Given the description of an element on the screen output the (x, y) to click on. 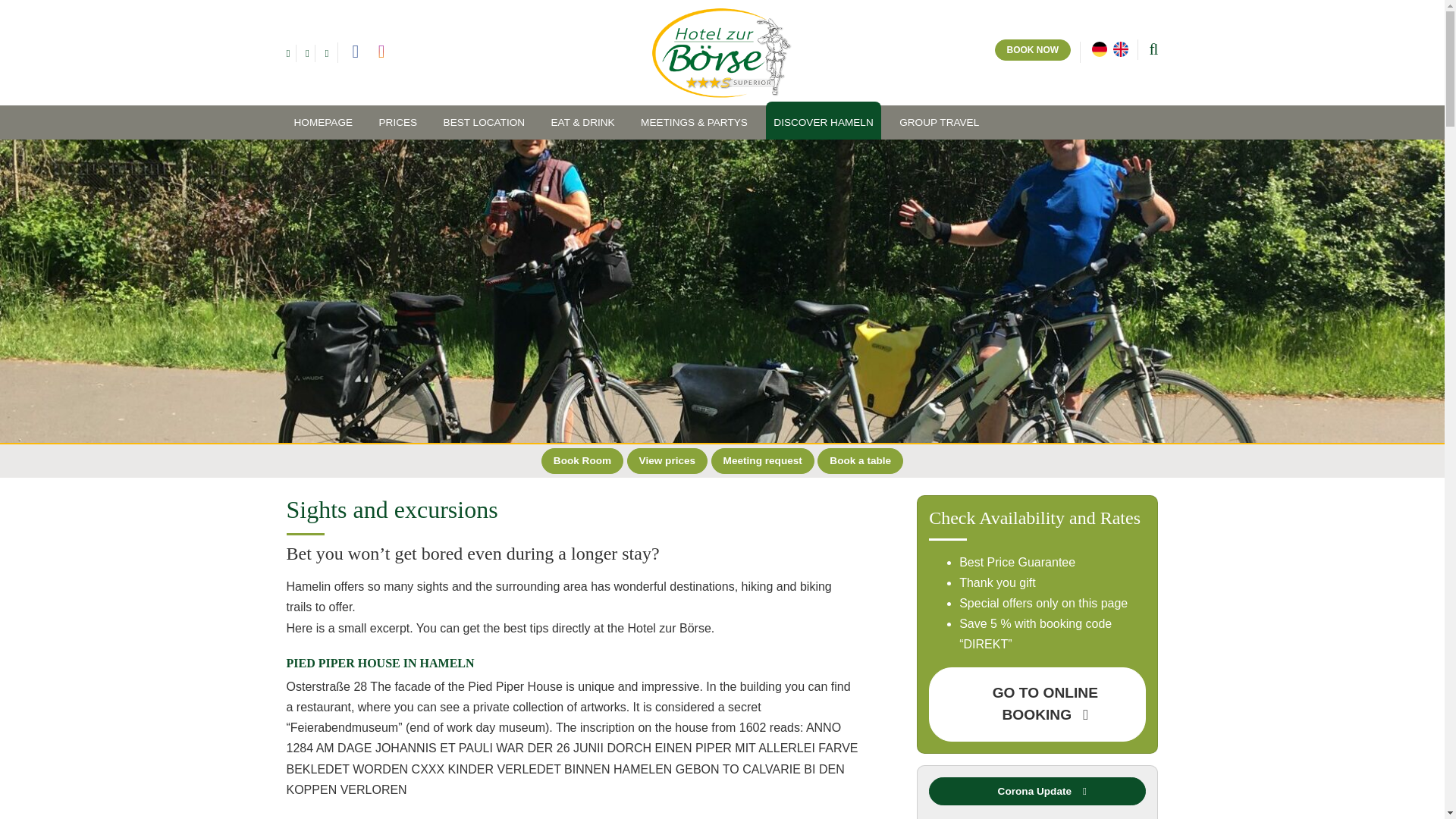
HOMEPAGE (323, 122)
BOOK NOW (1032, 49)
BEST LOCATION (483, 122)
PRICES (398, 122)
